Given the description of an element on the screen output the (x, y) to click on. 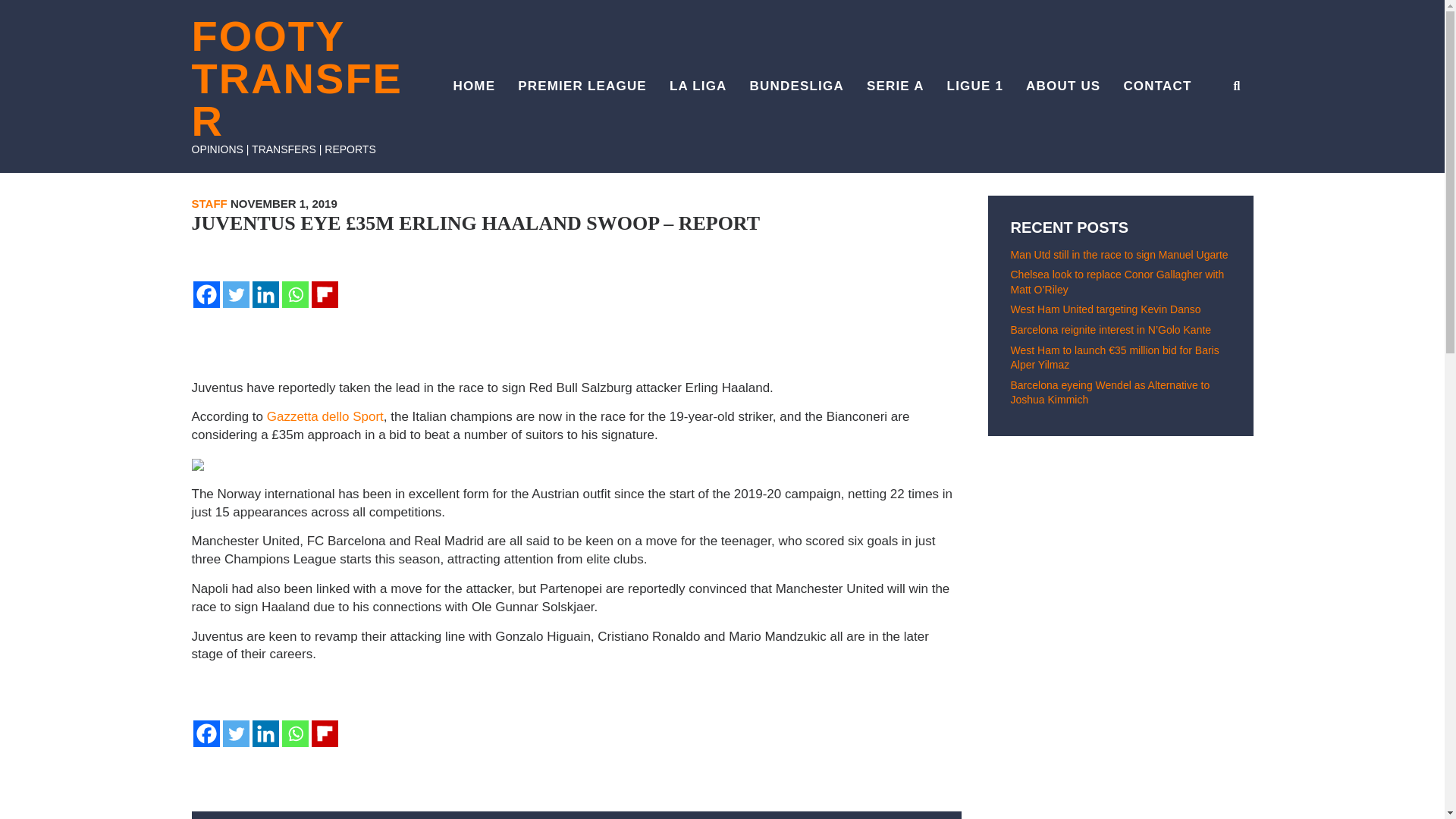
Facebook (205, 733)
Search (1220, 139)
Whatsapp (295, 733)
Linkedin (264, 733)
Facebook (205, 294)
STAFF (208, 203)
Twitter (235, 733)
HOME (473, 86)
Twitter (235, 294)
Linkedin (264, 294)
